Given the description of an element on the screen output the (x, y) to click on. 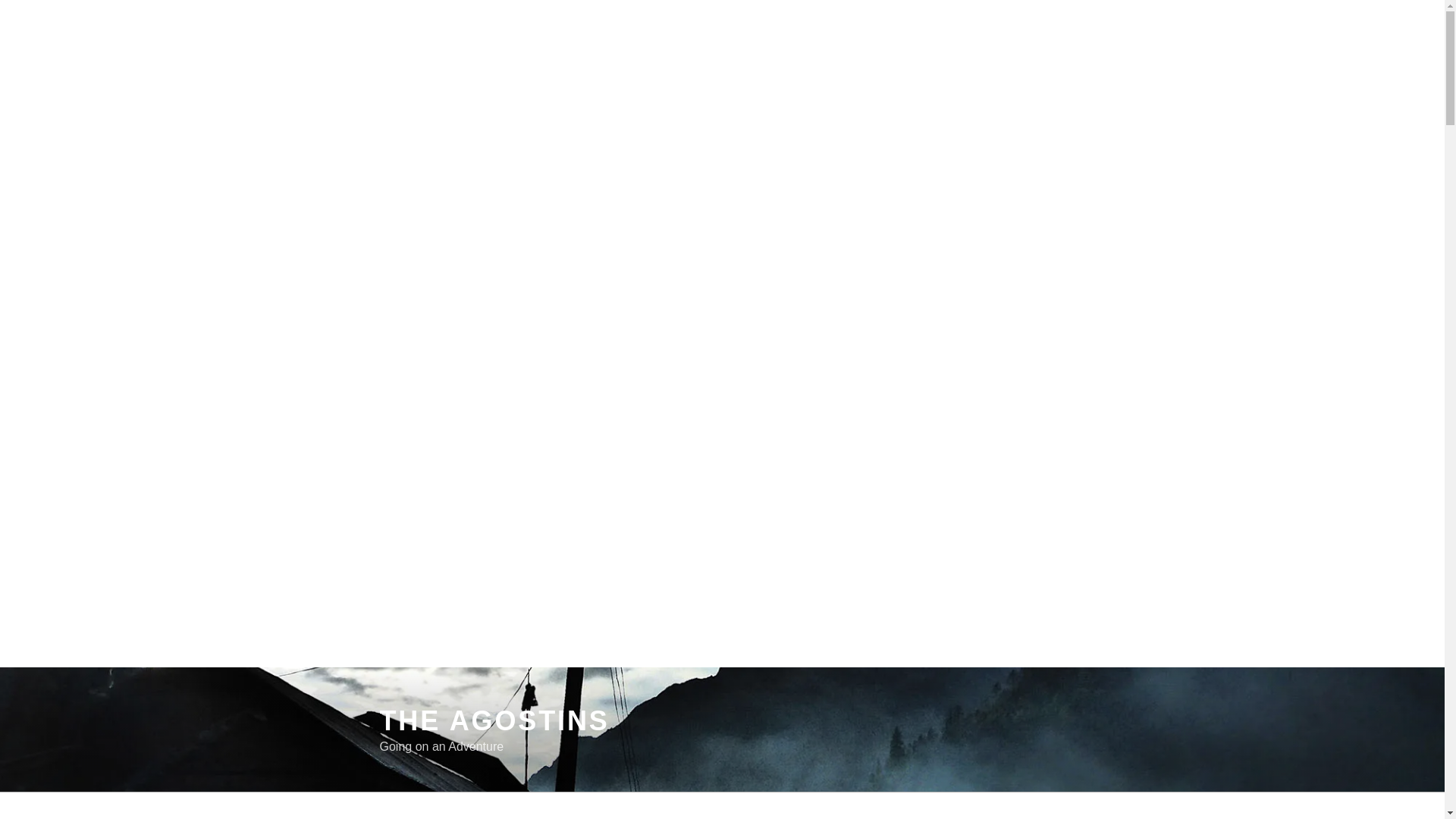
Voorspellingen Voor Voetbal Sportweddenschappen (861, 330)
Quote Scommesse Sportive Croazia Belgio (838, 330)
O Que Significa Apostar No Futebol (818, 330)
Scommesse Calcio Cosa Vuol Dire Goal No Goal (854, 330)
Voetbal Meerdere Goksystemen (808, 330)
Programme De Calcul Des Paris Sur Le Football (852, 330)
THE AGOSTINS (493, 720)
